Given the description of an element on the screen output the (x, y) to click on. 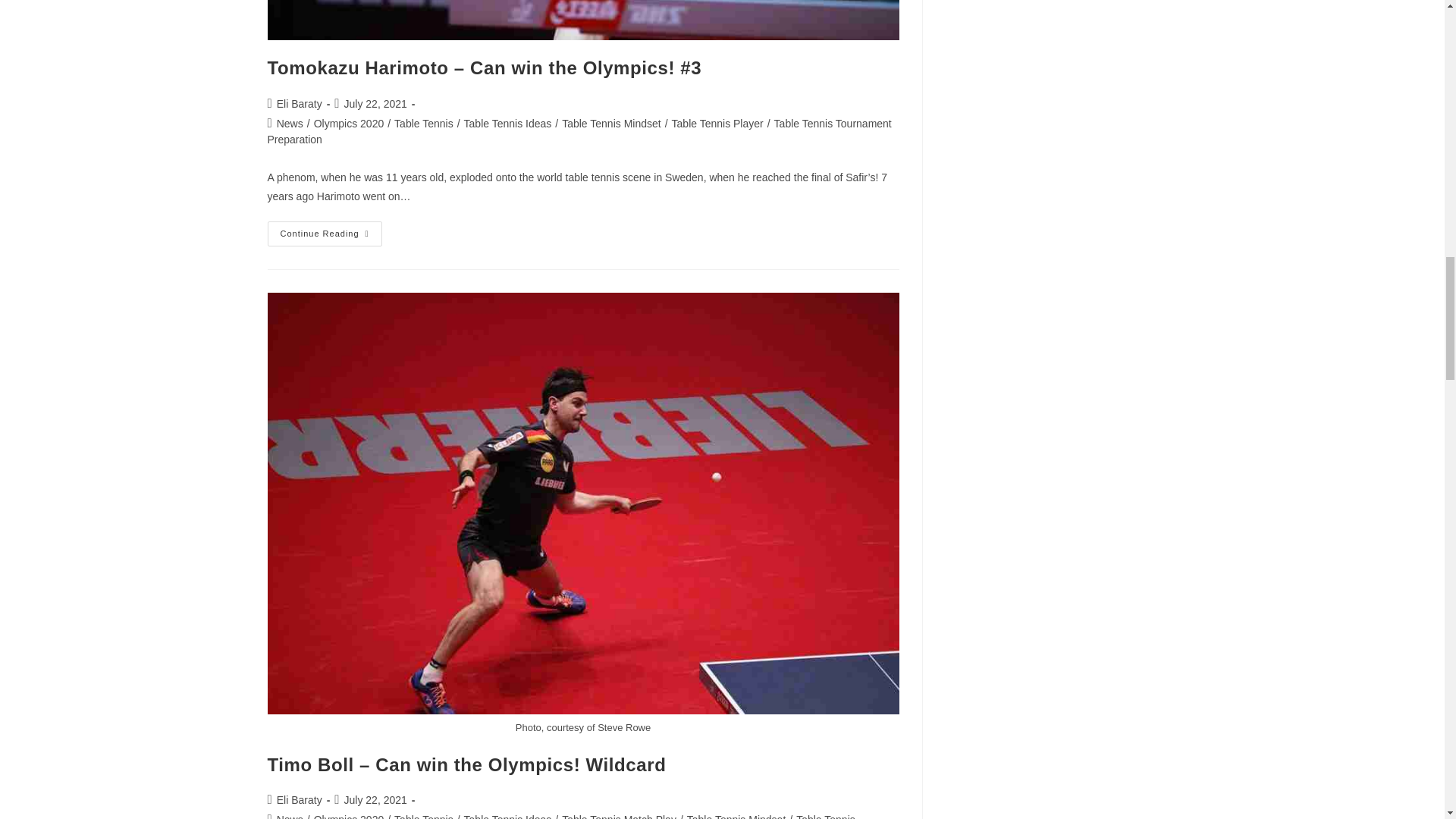
Posts by Eli Baraty (298, 799)
Posts by Eli Baraty (298, 103)
